Given the description of an element on the screen output the (x, y) to click on. 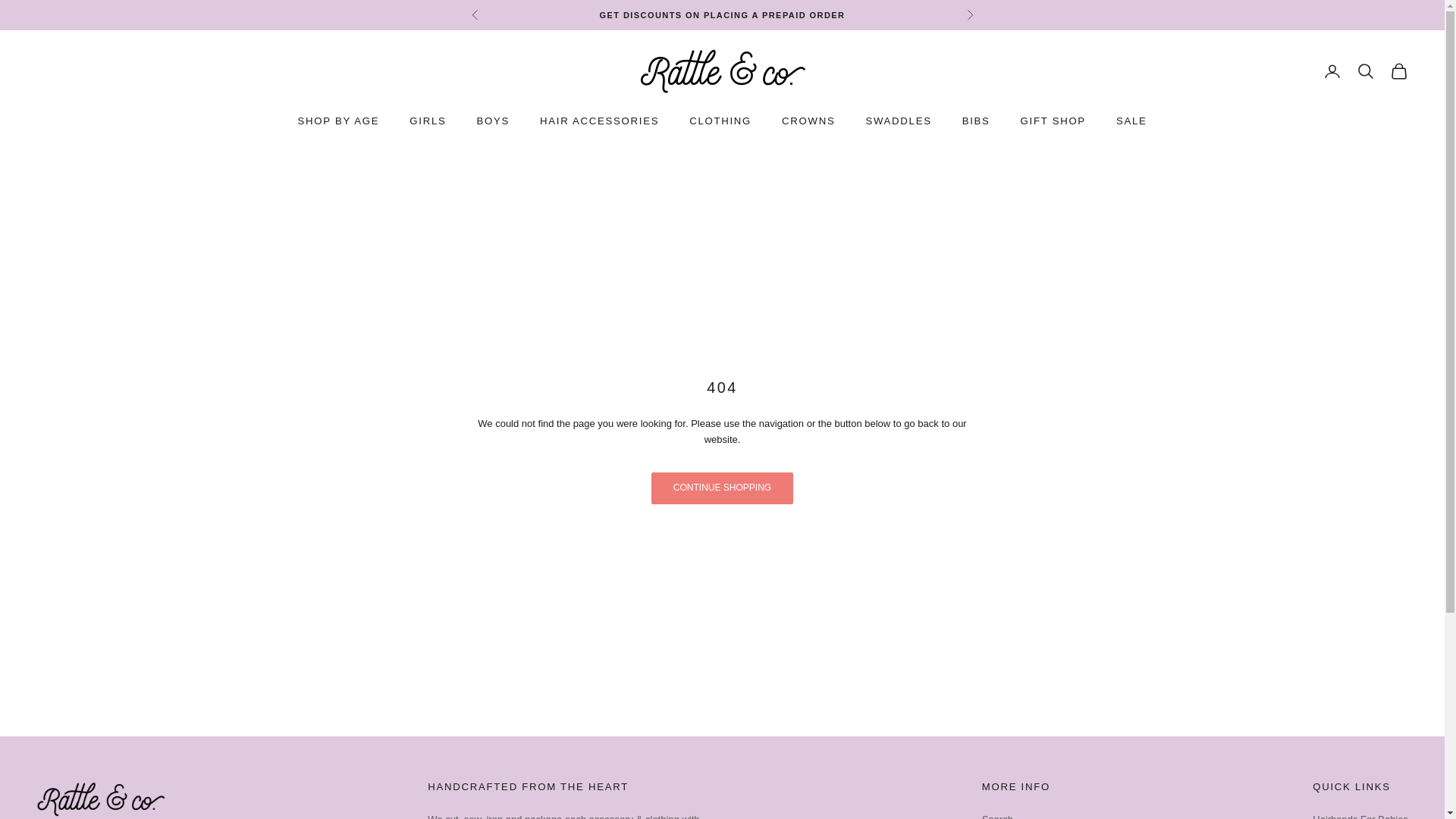
GIRLS (427, 121)
Open cart (1398, 71)
CROWNS (807, 121)
BOYS (492, 121)
SWADDLES (897, 121)
BIBS (976, 121)
GIFT SHOP (1053, 121)
Open search (1365, 71)
Open account page (1331, 71)
